Given the description of an element on the screen output the (x, y) to click on. 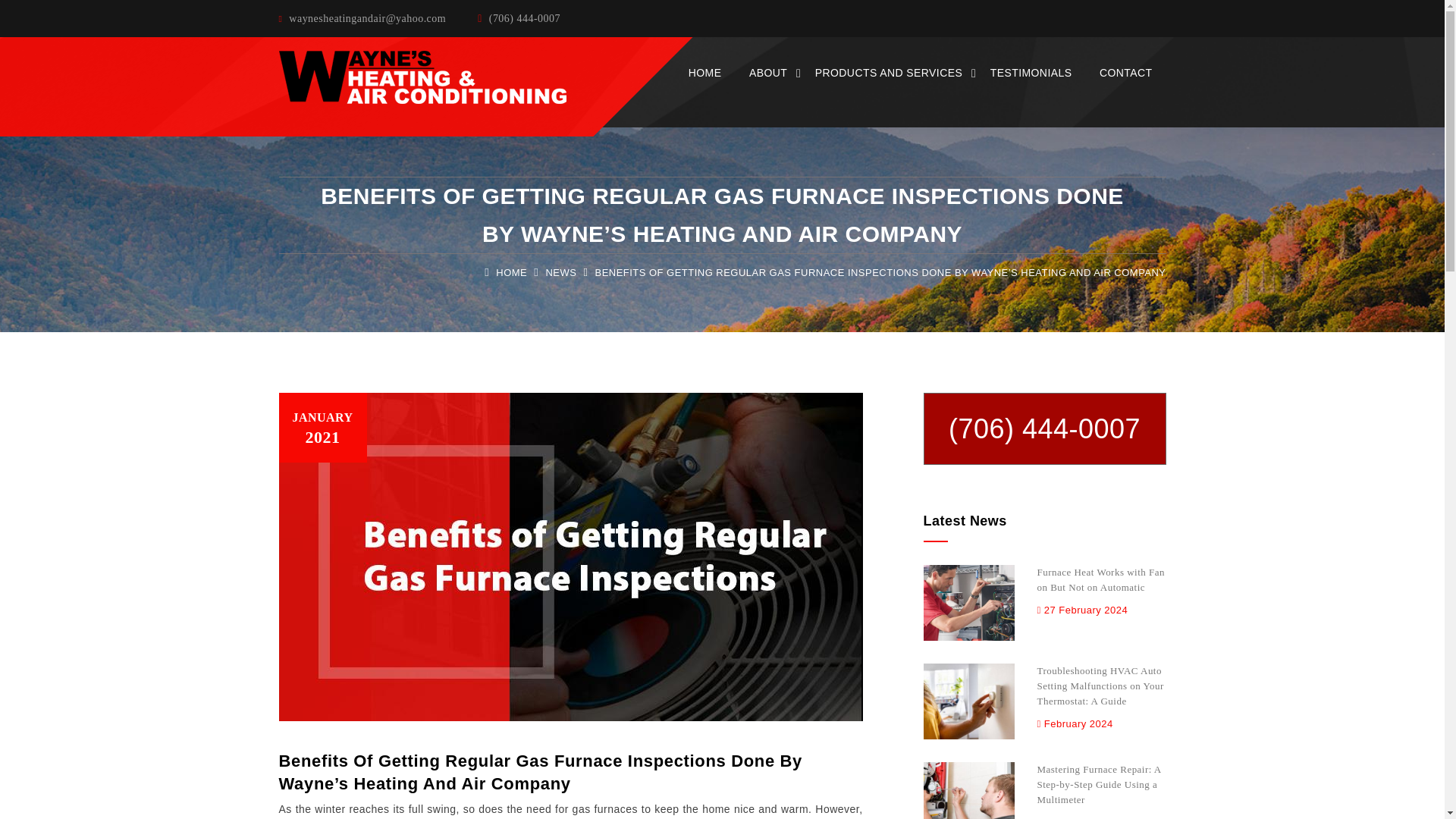
PRODUCTS AND SERVICES (889, 72)
Furnace Heat Works with Fan on But Not on Automatic (1101, 590)
HOME (511, 272)
NEWS (561, 272)
TESTIMONIALS (1031, 72)
ABOUT (767, 72)
CONTACT (1126, 72)
